Given the description of an element on the screen output the (x, y) to click on. 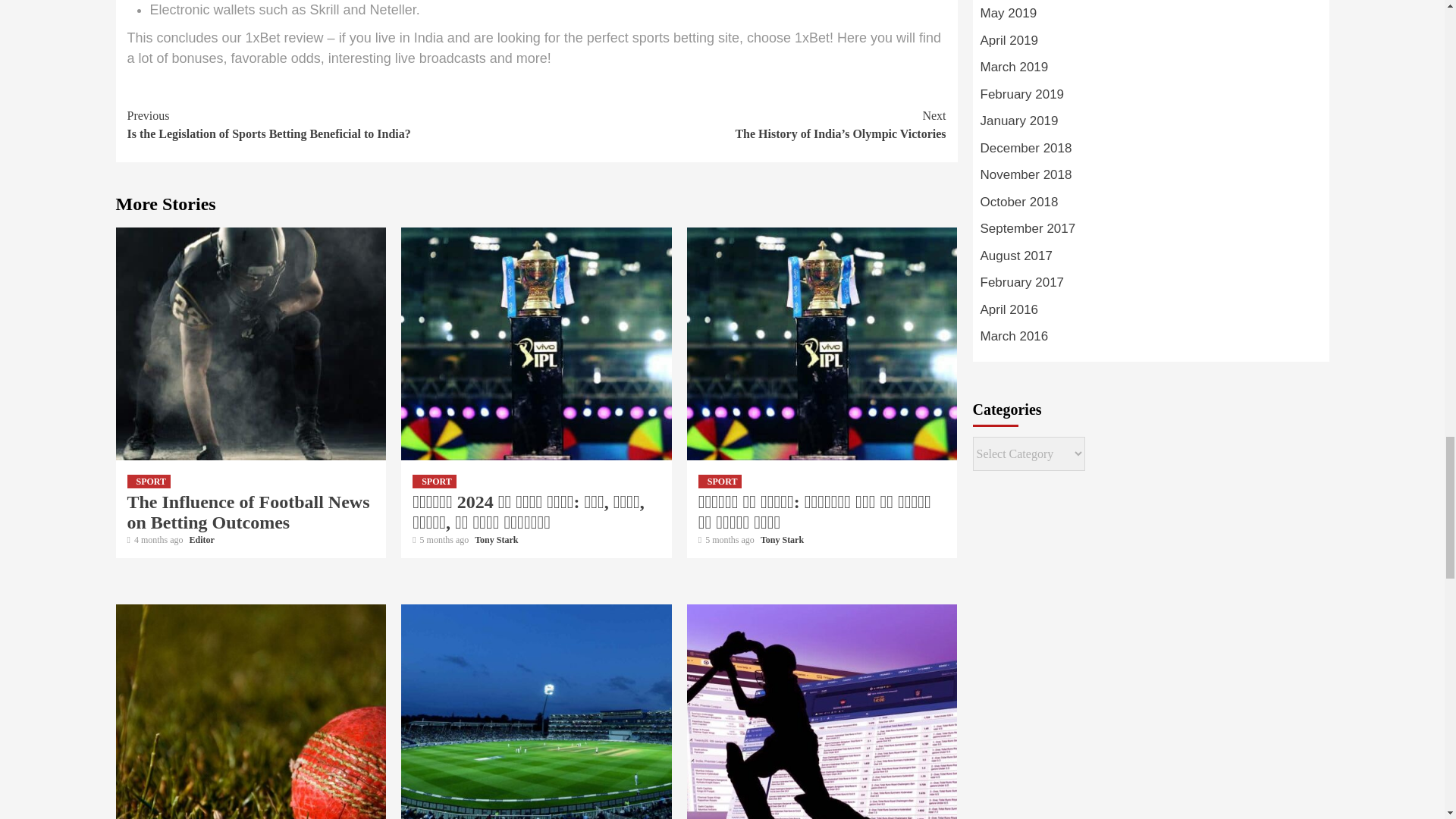
SPORT (434, 481)
Editor (201, 539)
The Influence of Football News on Betting Outcomes (248, 512)
SPORT (149, 481)
